Given the description of an element on the screen output the (x, y) to click on. 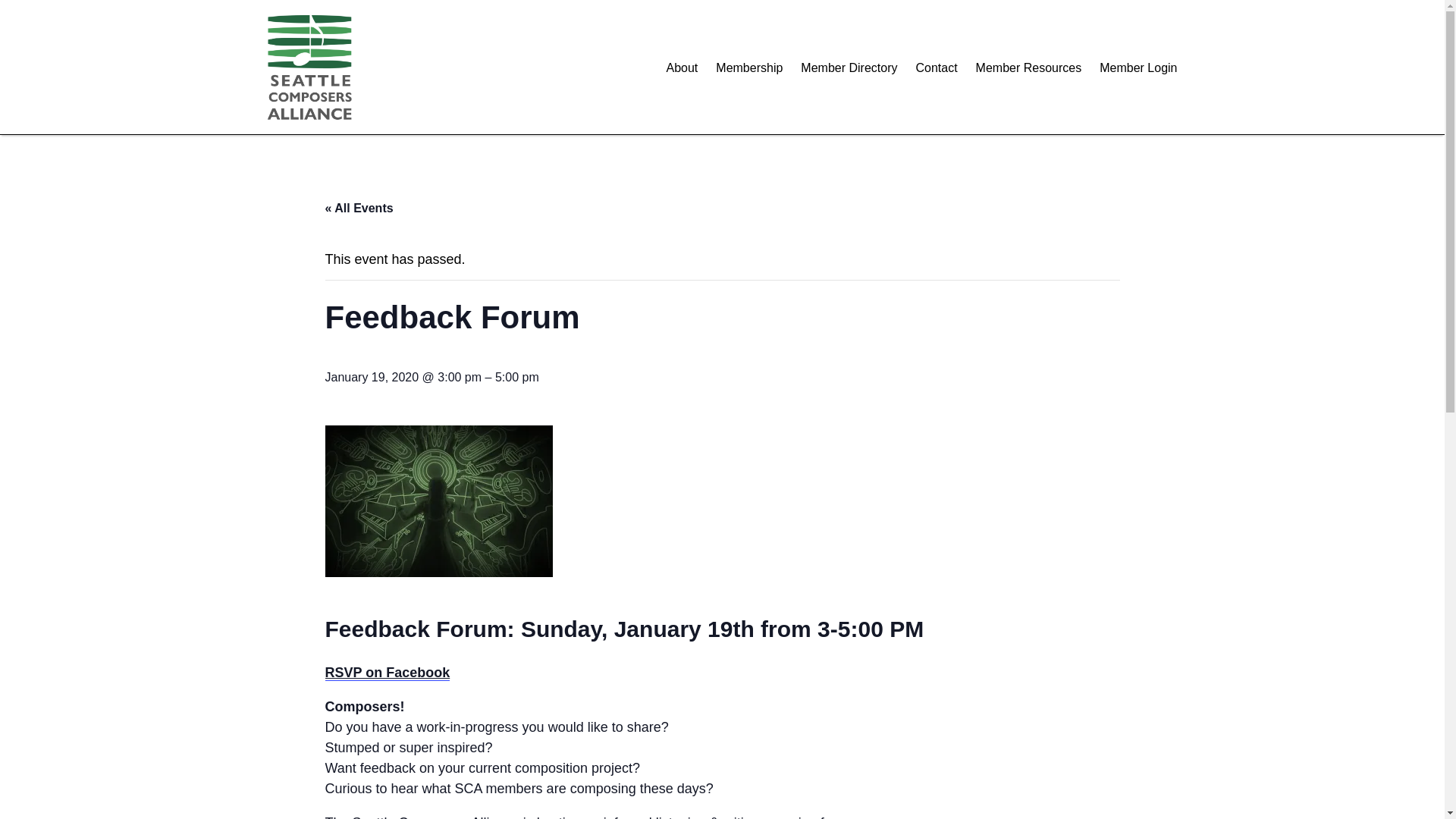
Member Login (1137, 66)
Contact (935, 66)
RSVP on Facebook (386, 672)
Member Resources (1028, 66)
About (681, 66)
Member Directory (848, 66)
Membership (749, 66)
